Given the description of an element on the screen output the (x, y) to click on. 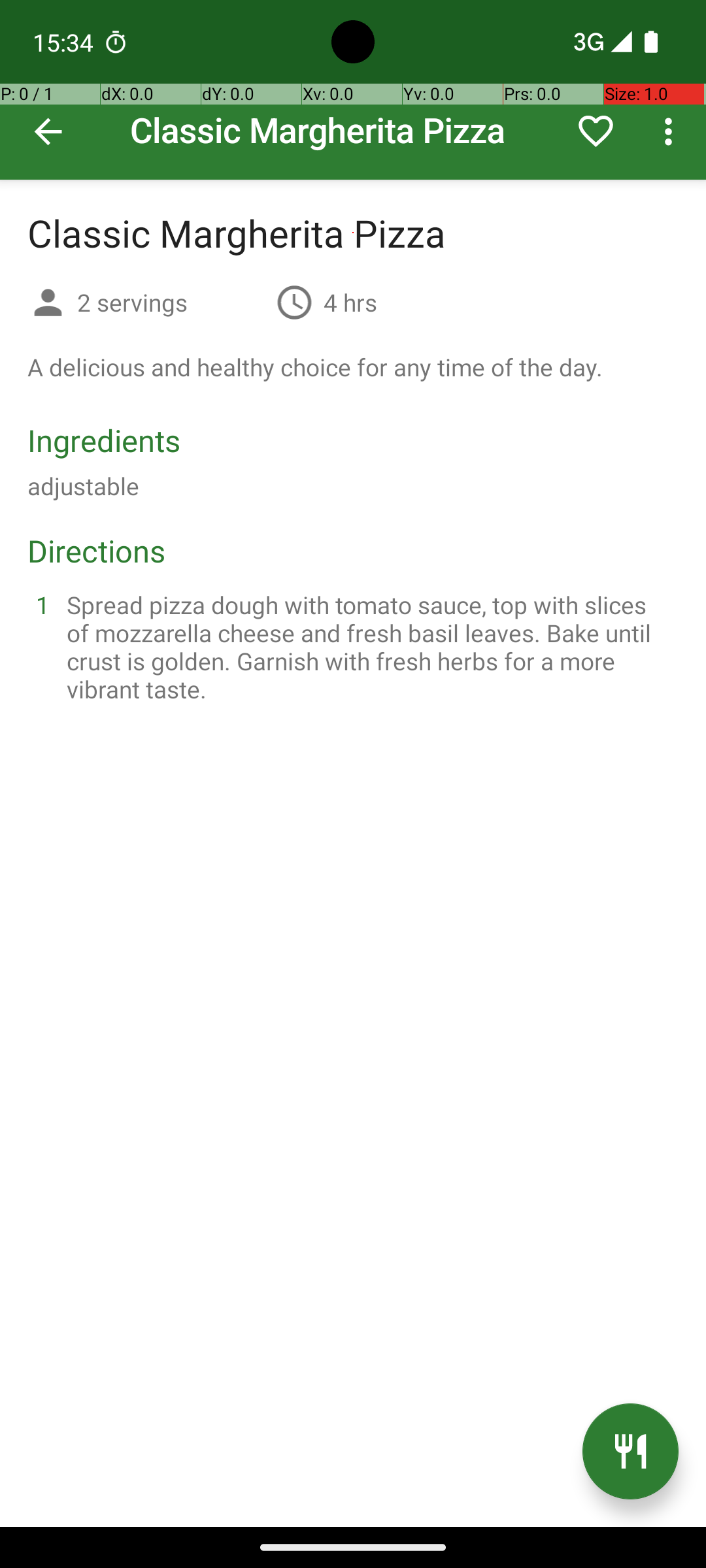
Spread pizza dough with tomato sauce, top with slices of mozzarella cheese and fresh basil leaves. Bake until crust is golden. Garnish with fresh herbs for a more vibrant taste. Element type: android.widget.TextView (368, 646)
